Given the description of an element on the screen output the (x, y) to click on. 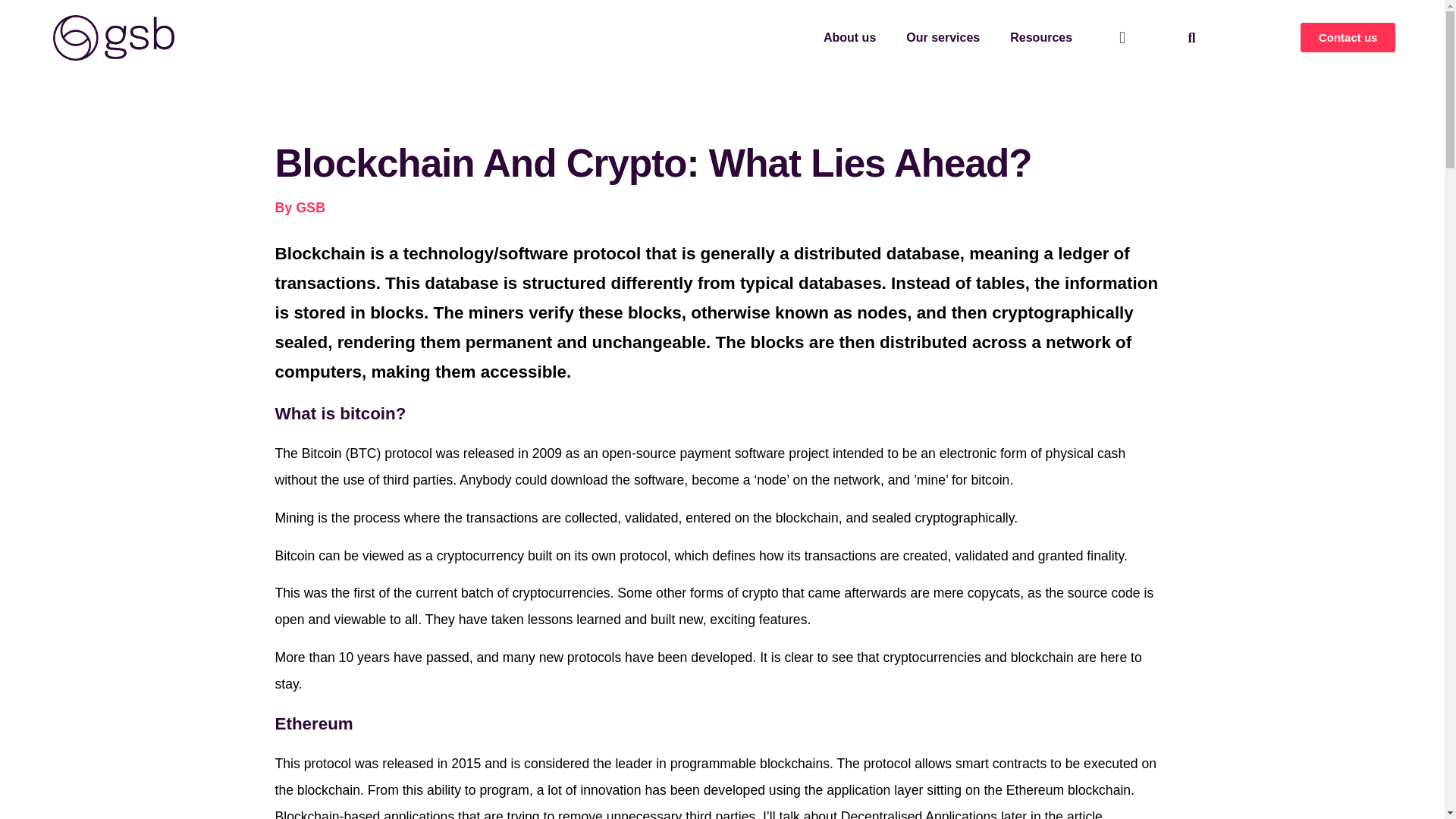
Our services (942, 37)
About us (849, 37)
Resources (1040, 37)
